Given the description of an element on the screen output the (x, y) to click on. 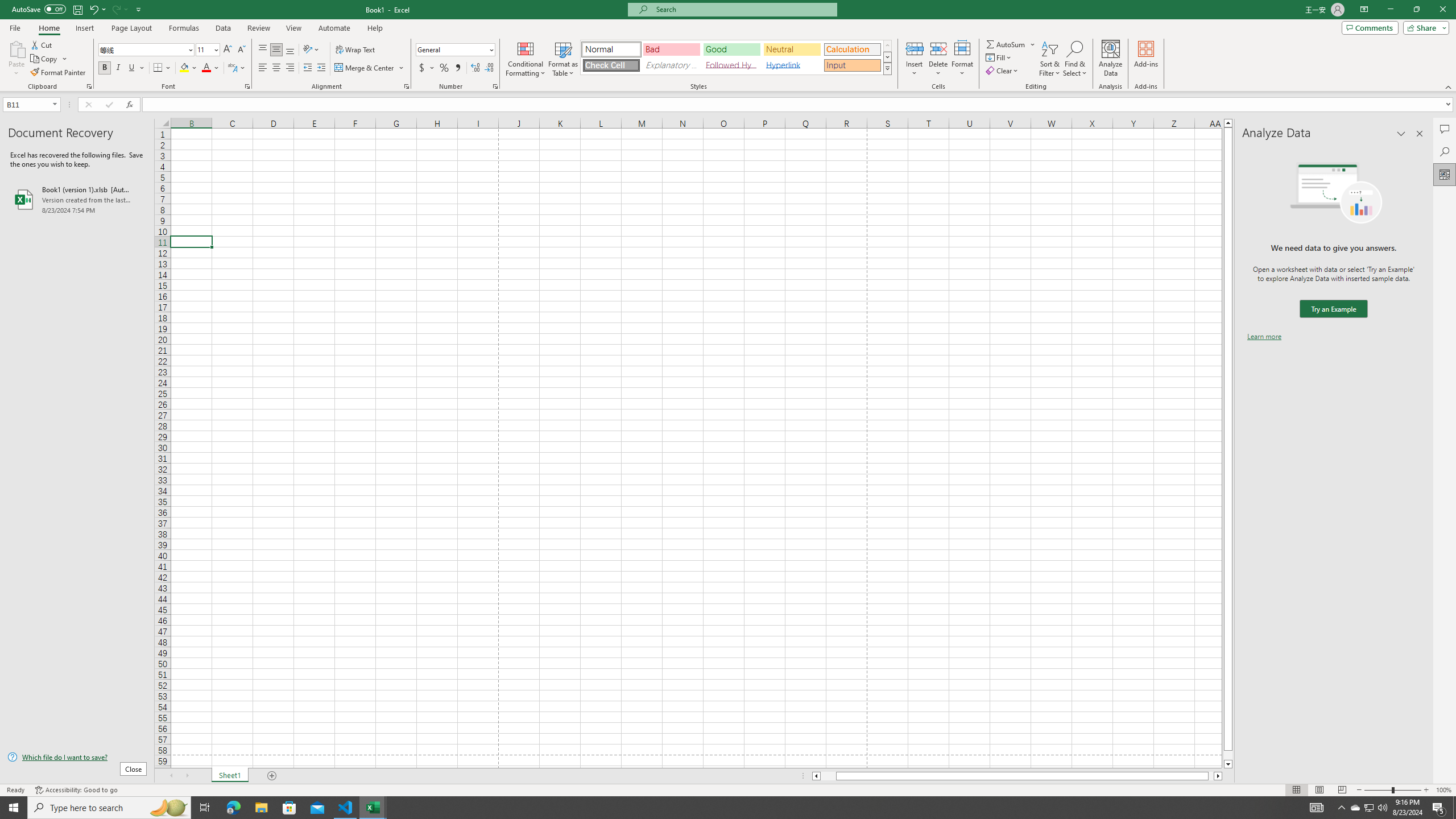
Office Clipboard... (88, 85)
Learn more (1264, 336)
Wrap Text (355, 49)
Increase Font Size (227, 49)
